Given the description of an element on the screen output the (x, y) to click on. 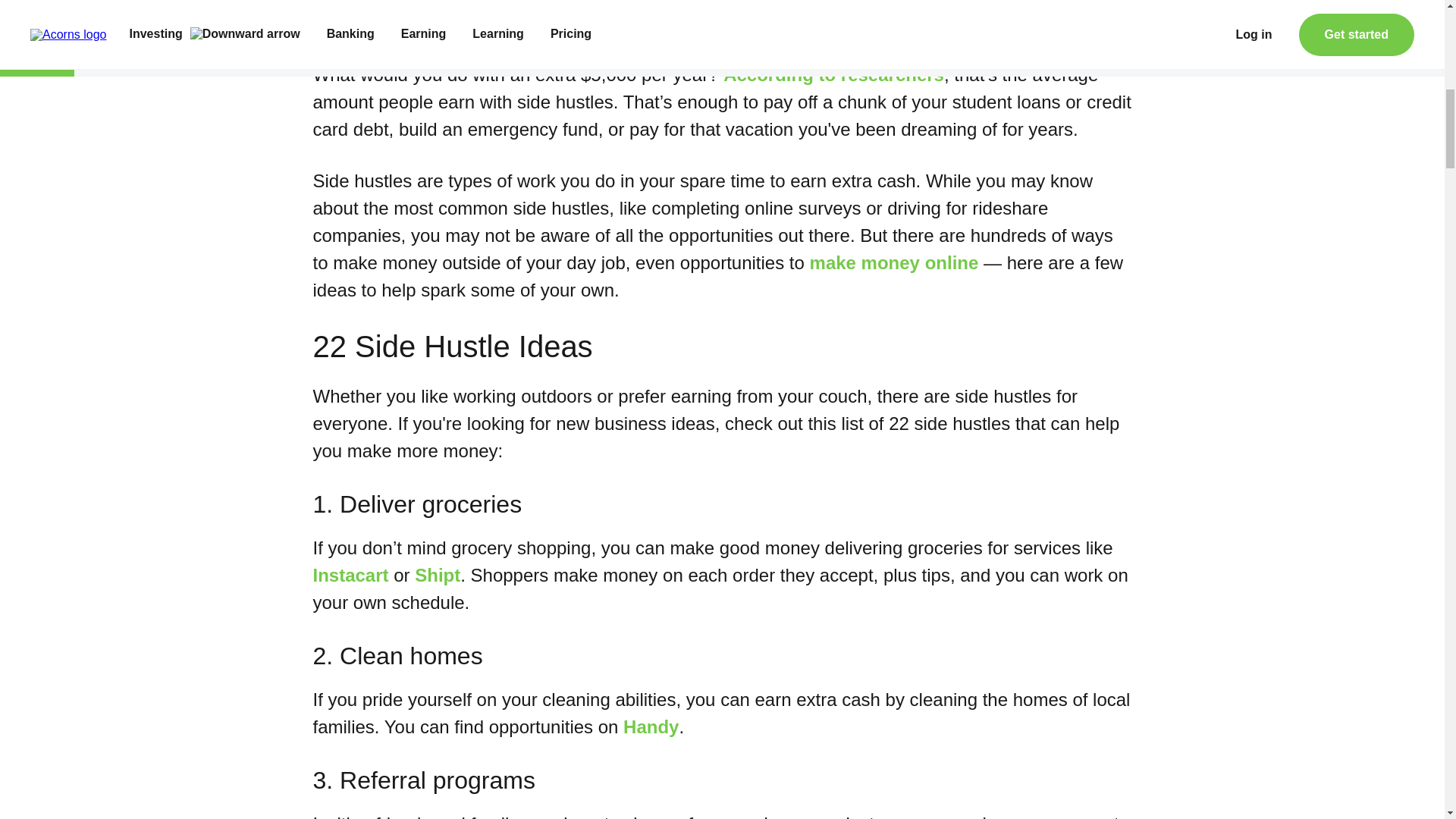
Handy (650, 726)
make money online (893, 262)
Instacart (350, 575)
According to researchers (833, 74)
Shipt (437, 575)
